Given the description of an element on the screen output the (x, y) to click on. 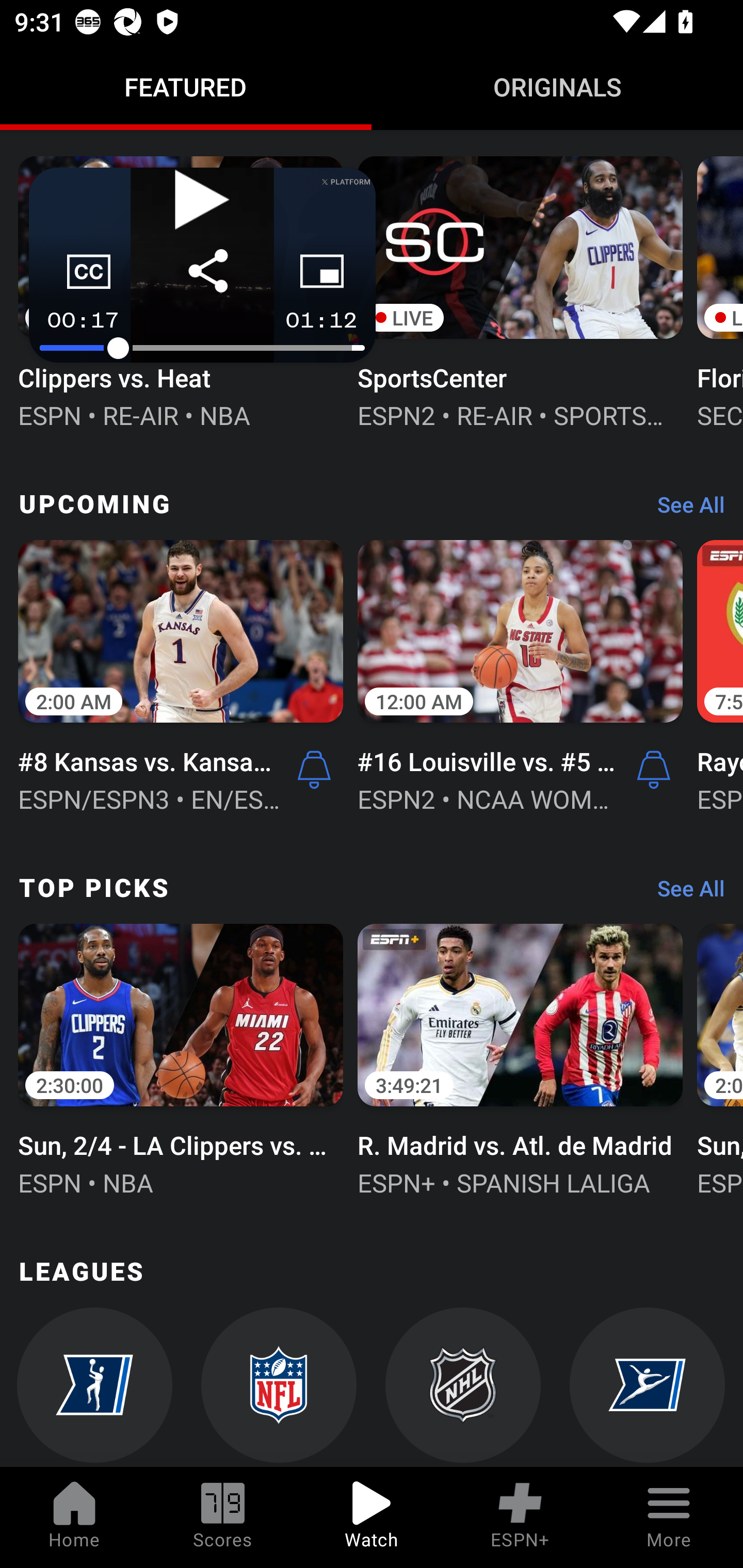
Originals ORIGINALS (557, 86)
LIVE Clippers vs. Heat ESPN • RE-AIR • NBA (180, 290)
LIVE SportsCenter ESPN2 • RE-AIR • SPORTSCENTER (519, 290)
See All (683, 509)
Alerts (314, 769)
Alerts (653, 769)
See All (683, 893)
NCAA Women's Basketball (94, 1387)
NCAA Women's Gymnastics (647, 1387)
Home (74, 1517)
Scores (222, 1517)
ESPN+ (519, 1517)
More (668, 1517)
